Given the description of an element on the screen output the (x, y) to click on. 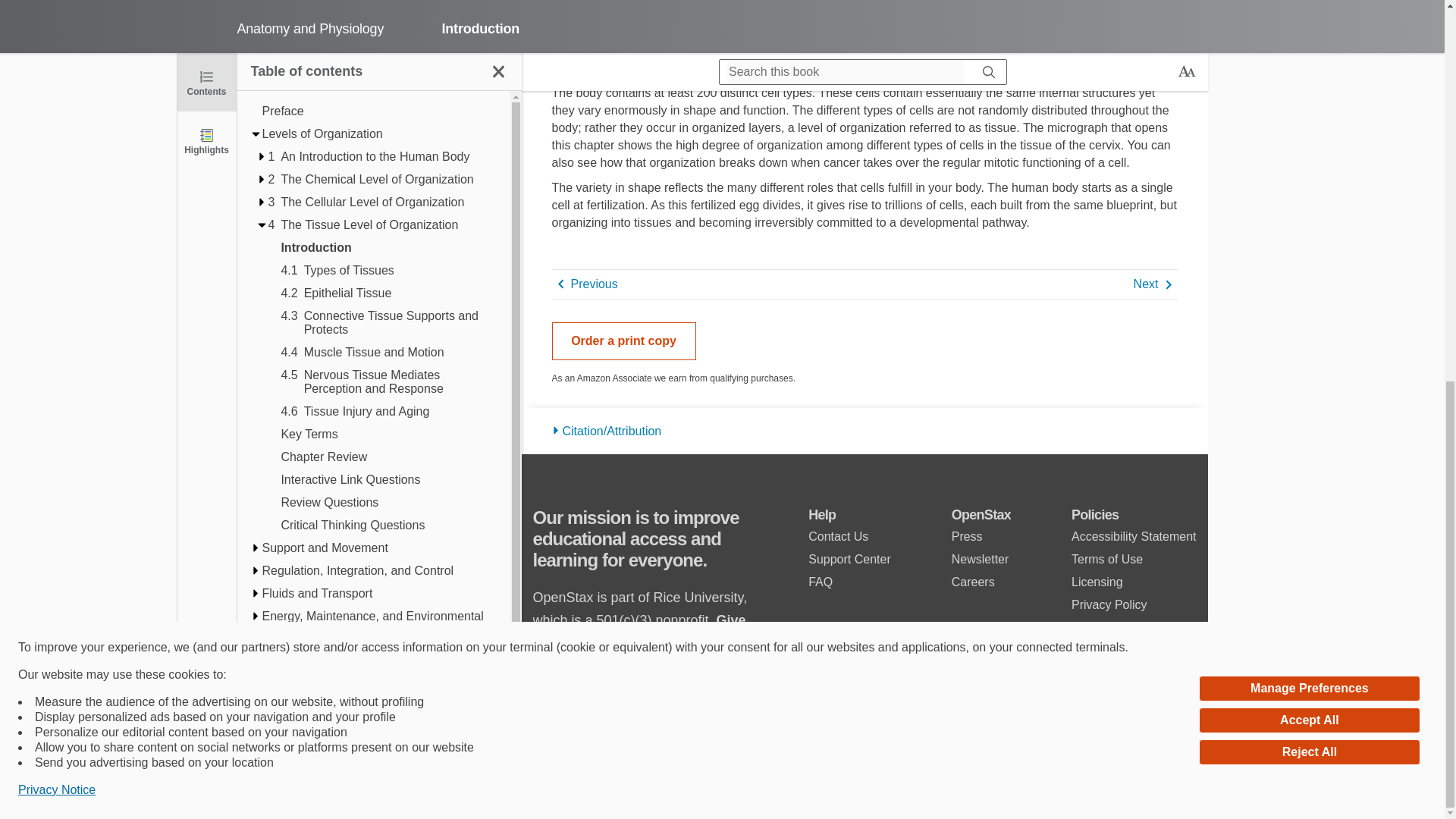
Accept All (1309, 10)
Privacy Notice (56, 77)
Reject All (1309, 40)
